Given the description of an element on the screen output the (x, y) to click on. 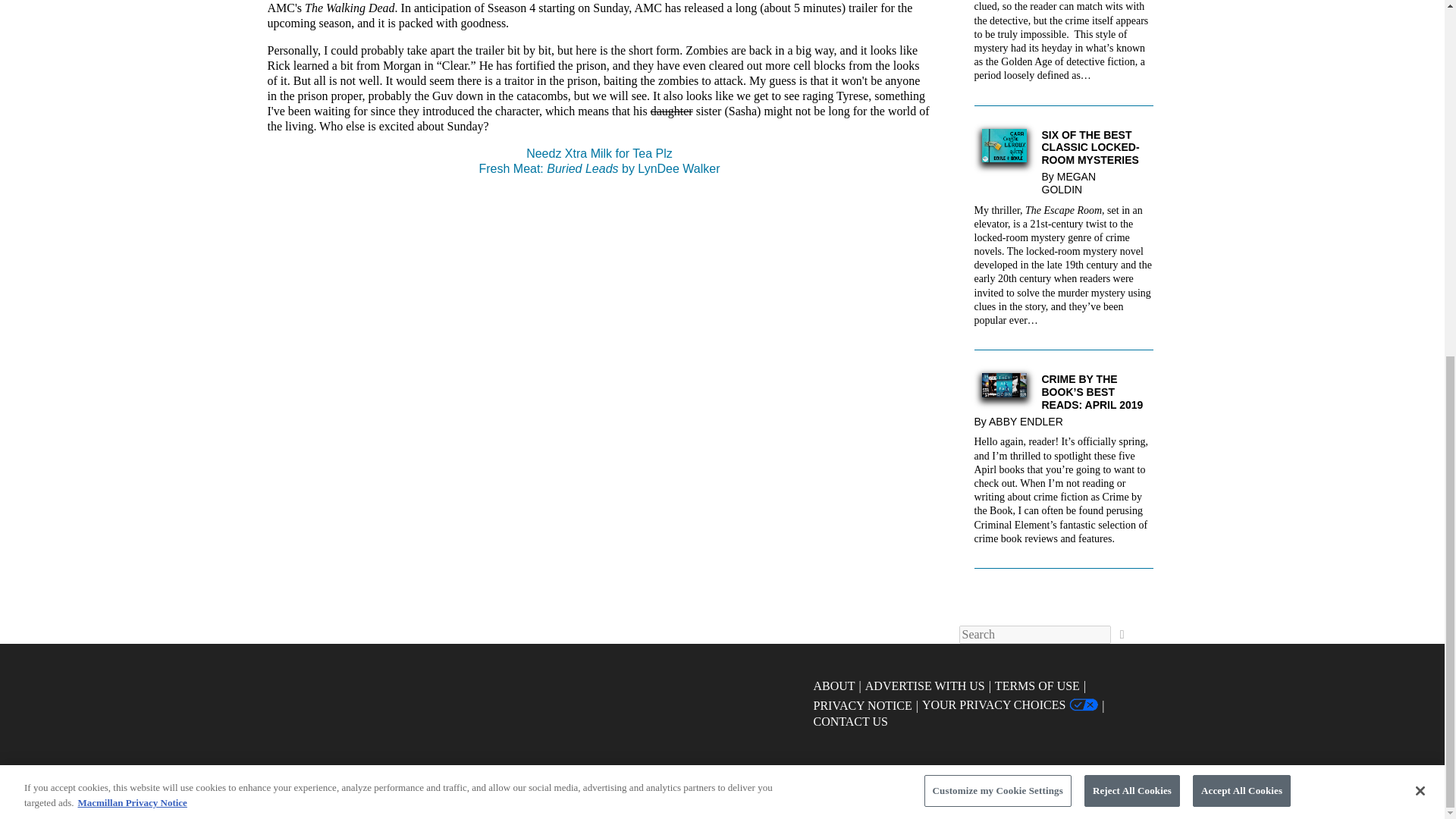
Needz Xtra Milk for Tea Plz (598, 153)
Six of the Best Classic Locked-Room Mysteries (1063, 147)
SIX OF THE BEST CLASSIC LOCKED-ROOM MYSTERIES (1063, 147)
Fresh Meat: Buried Leads by LynDee Walker (599, 168)
Supadu Website (763, 772)
MEGAN GOLDIN (1069, 182)
Six of the Best Classic Locked-Room Mysteries (1003, 157)
Abby Endler (1029, 421)
Megan Goldin (1069, 182)
